Given the description of an element on the screen output the (x, y) to click on. 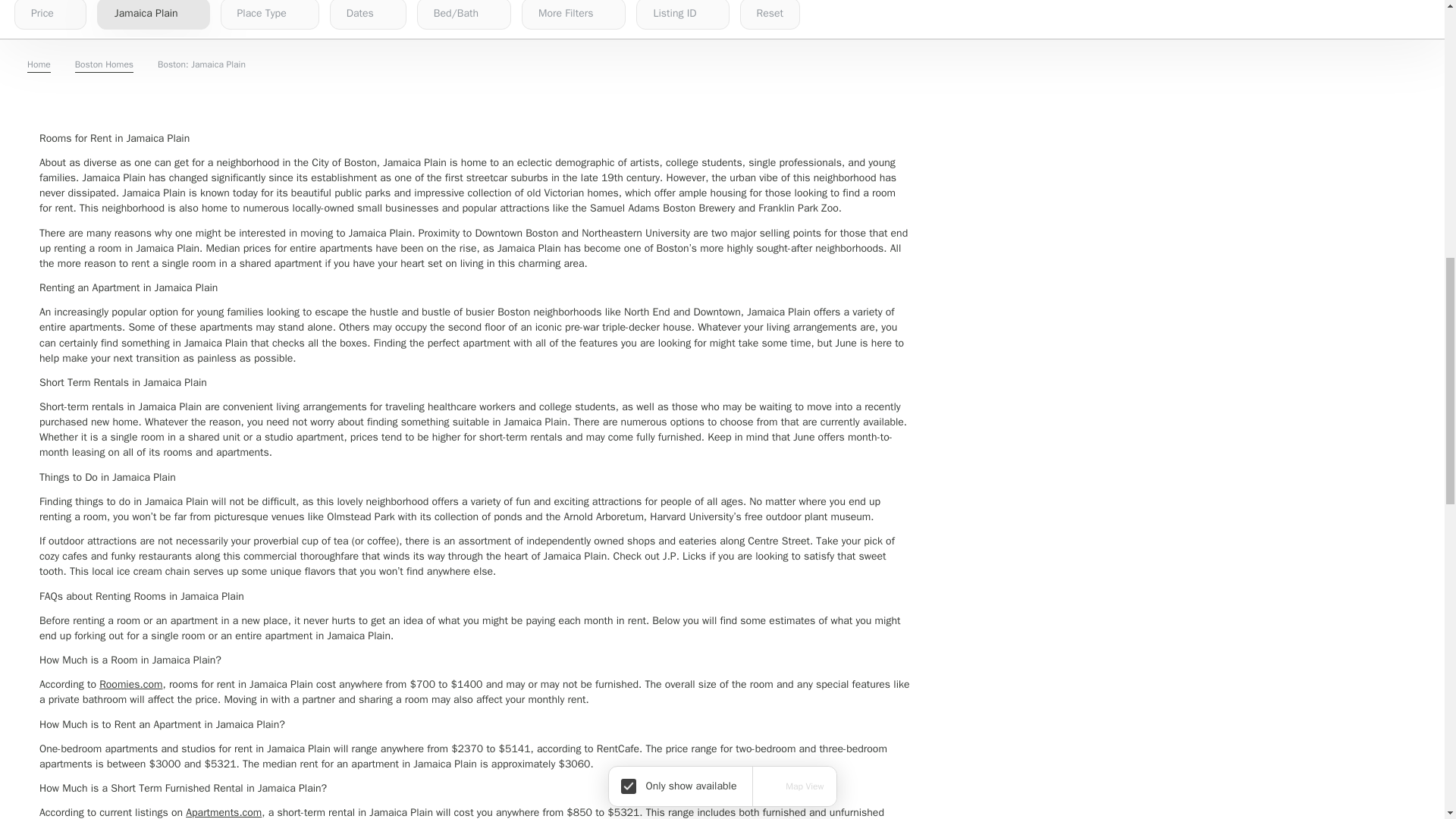
Boston Homes (104, 64)
Home (38, 64)
Roomies.com (130, 684)
Apartments.com (224, 812)
